Given the description of an element on the screen output the (x, y) to click on. 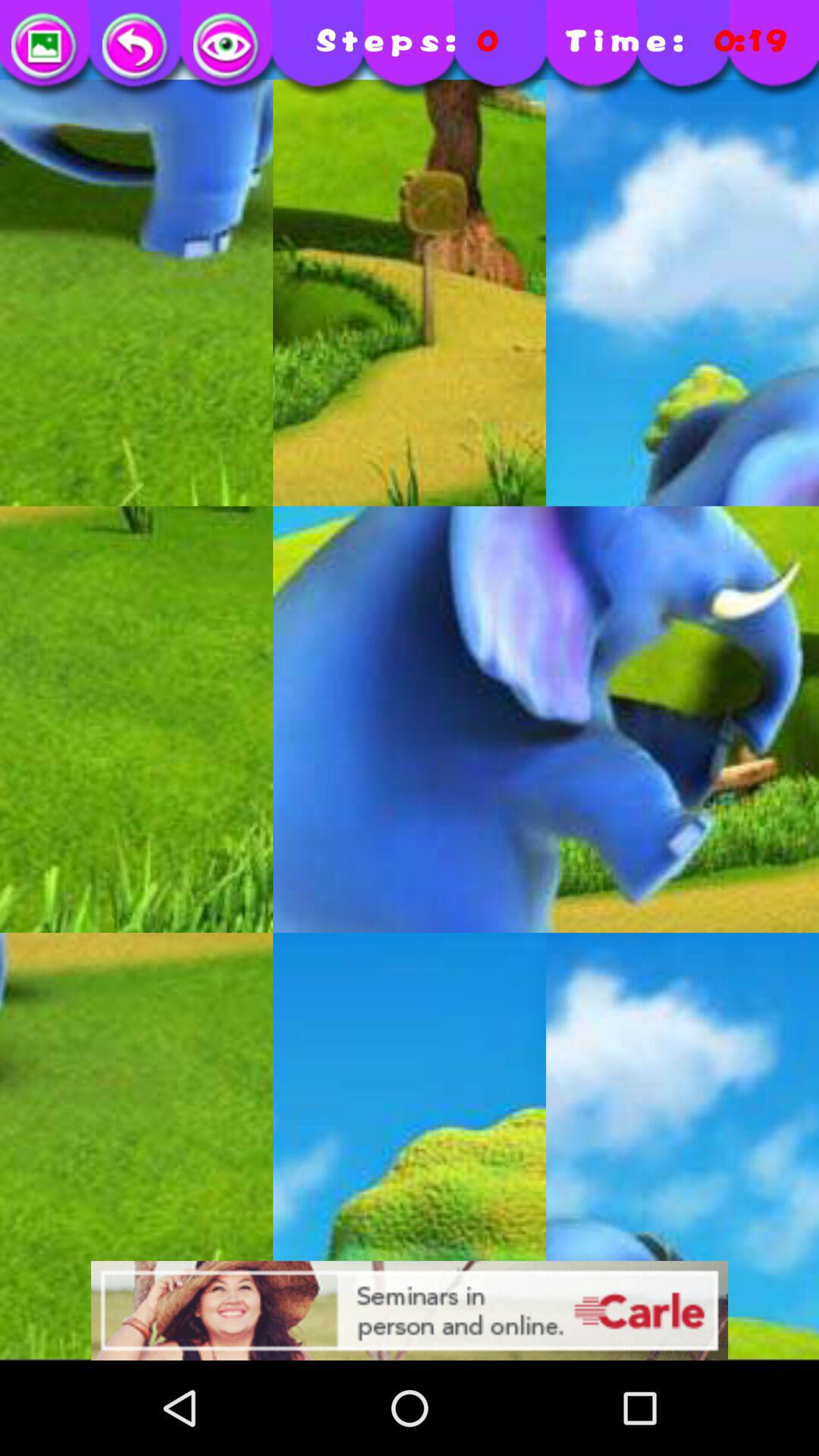
select advertisement (409, 1310)
